Given the description of an element on the screen output the (x, y) to click on. 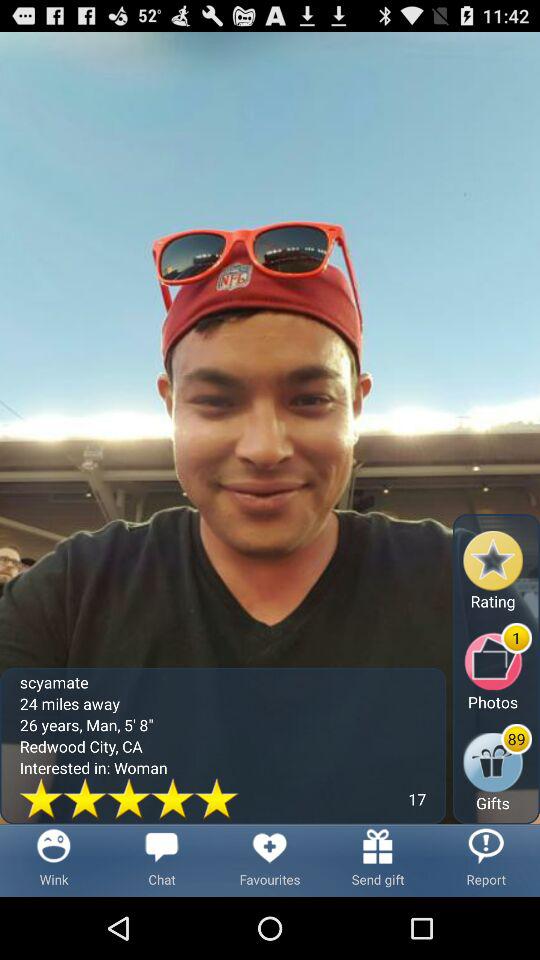
flip until send gift item (378, 860)
